Given the description of an element on the screen output the (x, y) to click on. 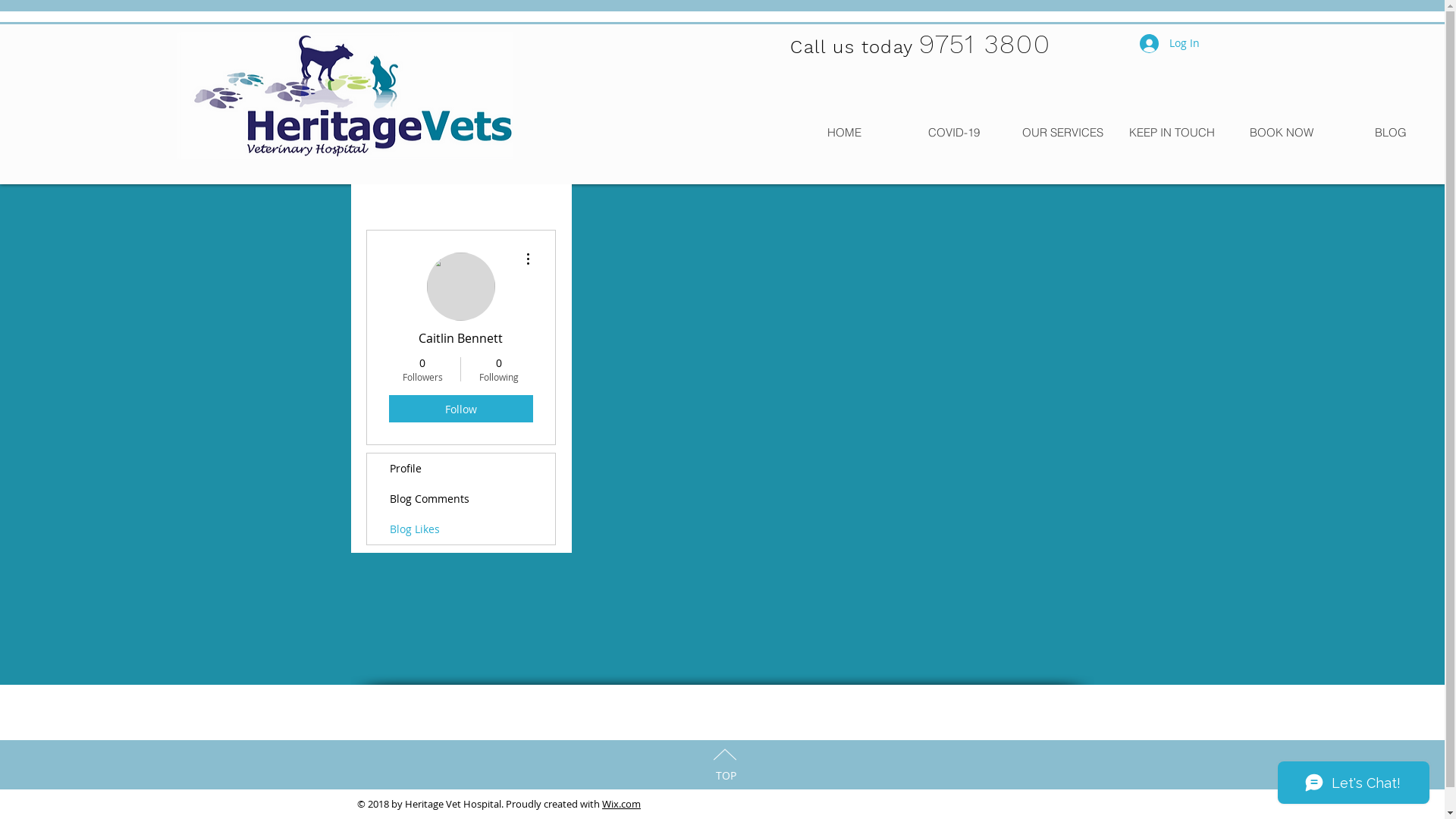
Blog Likes Element type: text (461, 529)
Follow Element type: text (460, 408)
0
Following Element type: text (499, 368)
BOOK NOW Element type: text (1280, 132)
Wix.com Element type: text (621, 803)
OUR SERVICES Element type: text (1062, 132)
Profile Element type: text (461, 468)
Blog Comments Element type: text (461, 498)
HOME Element type: text (843, 132)
TOP Element type: text (725, 775)
COVID-19 Element type: text (952, 132)
KEEP IN TOUCH Element type: text (1171, 132)
0
Followers Element type: text (421, 368)
Log In Element type: text (1168, 42)
Blog Likes Element type: hover (827, 456)
BLOG Element type: text (1389, 132)
